Given the description of an element on the screen output the (x, y) to click on. 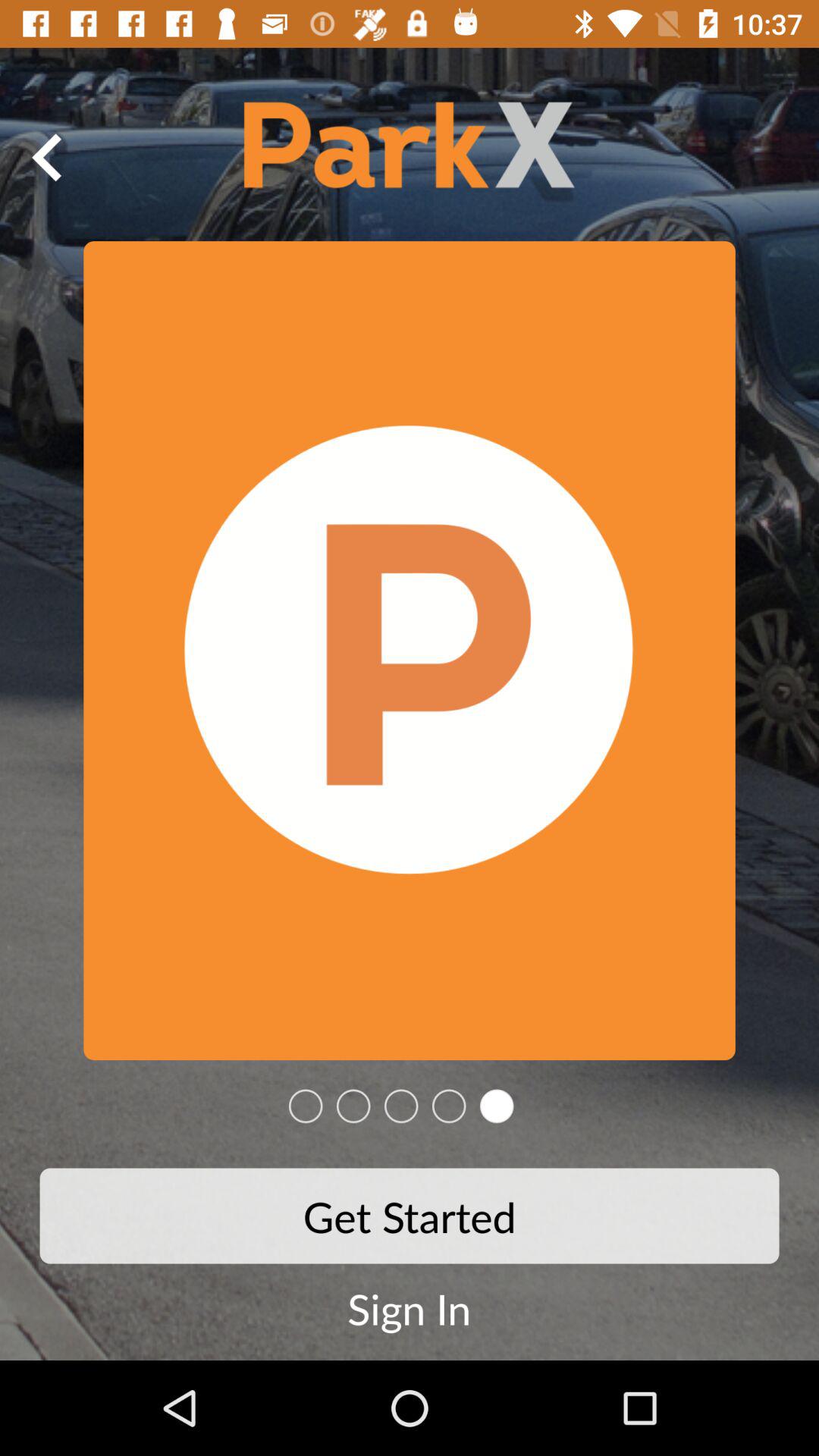
go back (47, 157)
